Given the description of an element on the screen output the (x, y) to click on. 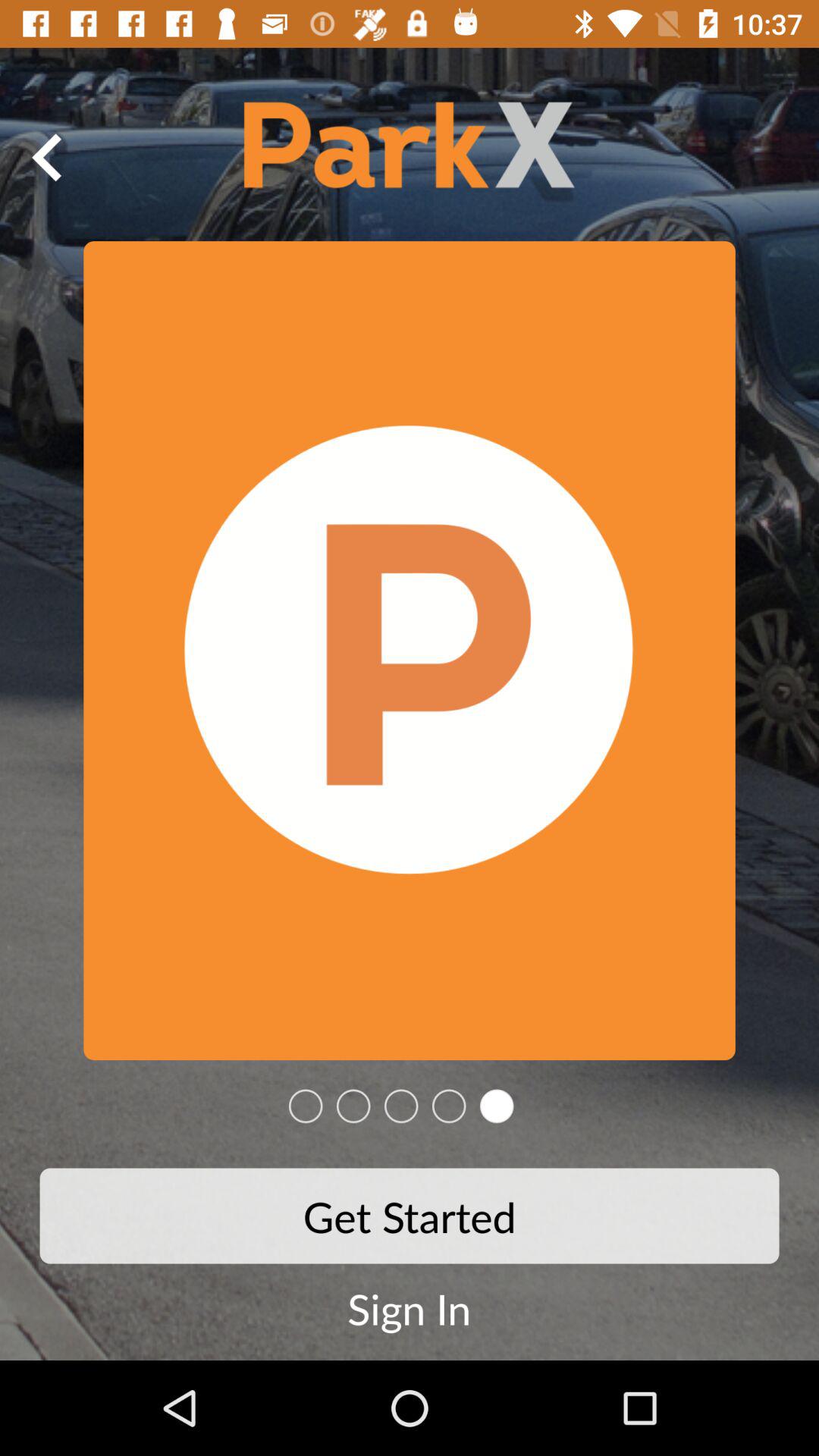
go back (47, 157)
